Given the description of an element on the screen output the (x, y) to click on. 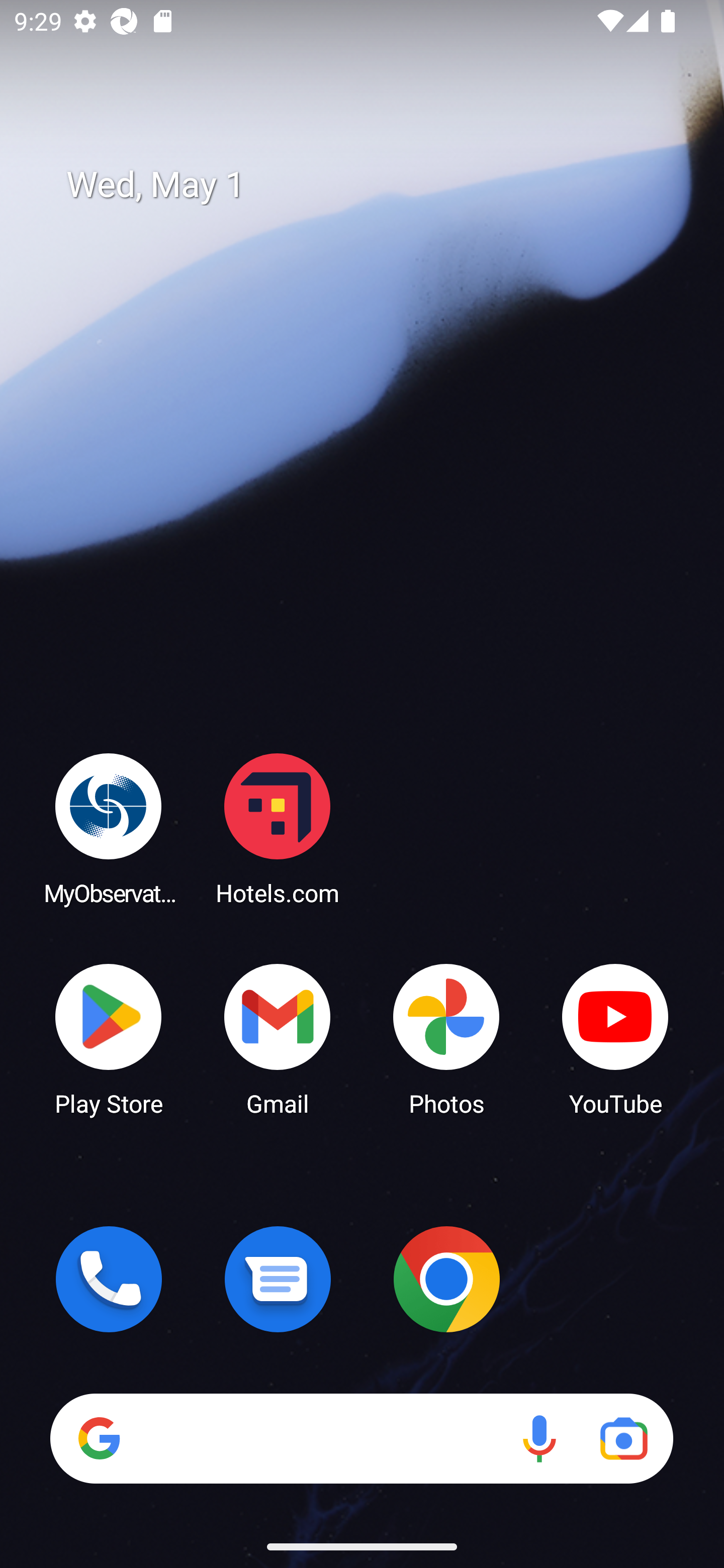
Wed, May 1 (375, 184)
MyObservatory (108, 828)
Hotels.com (277, 828)
Play Store (108, 1038)
Gmail (277, 1038)
Photos (445, 1038)
YouTube (615, 1038)
Phone (108, 1279)
Messages (277, 1279)
Chrome (446, 1279)
Search Voice search Google Lens (361, 1438)
Voice search (539, 1438)
Google Lens (623, 1438)
